Given the description of an element on the screen output the (x, y) to click on. 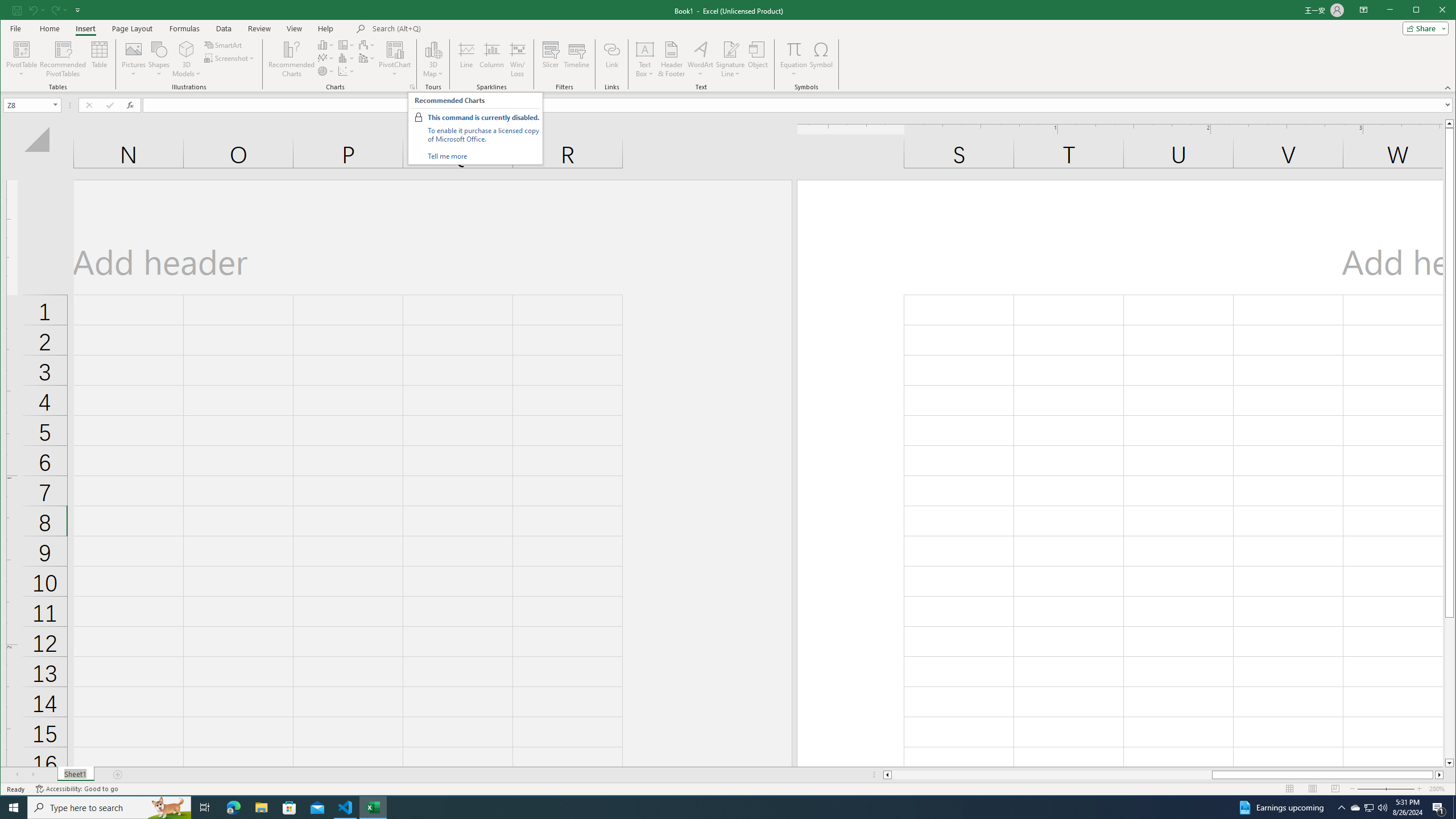
Line (466, 59)
File Explorer (261, 807)
Equation (793, 48)
Action Center, 1 new notification (1439, 807)
Signature Line (729, 59)
Insert Pie or Doughnut Chart (325, 70)
Running applications (717, 807)
Start (13, 807)
